Given the description of an element on the screen output the (x, y) to click on. 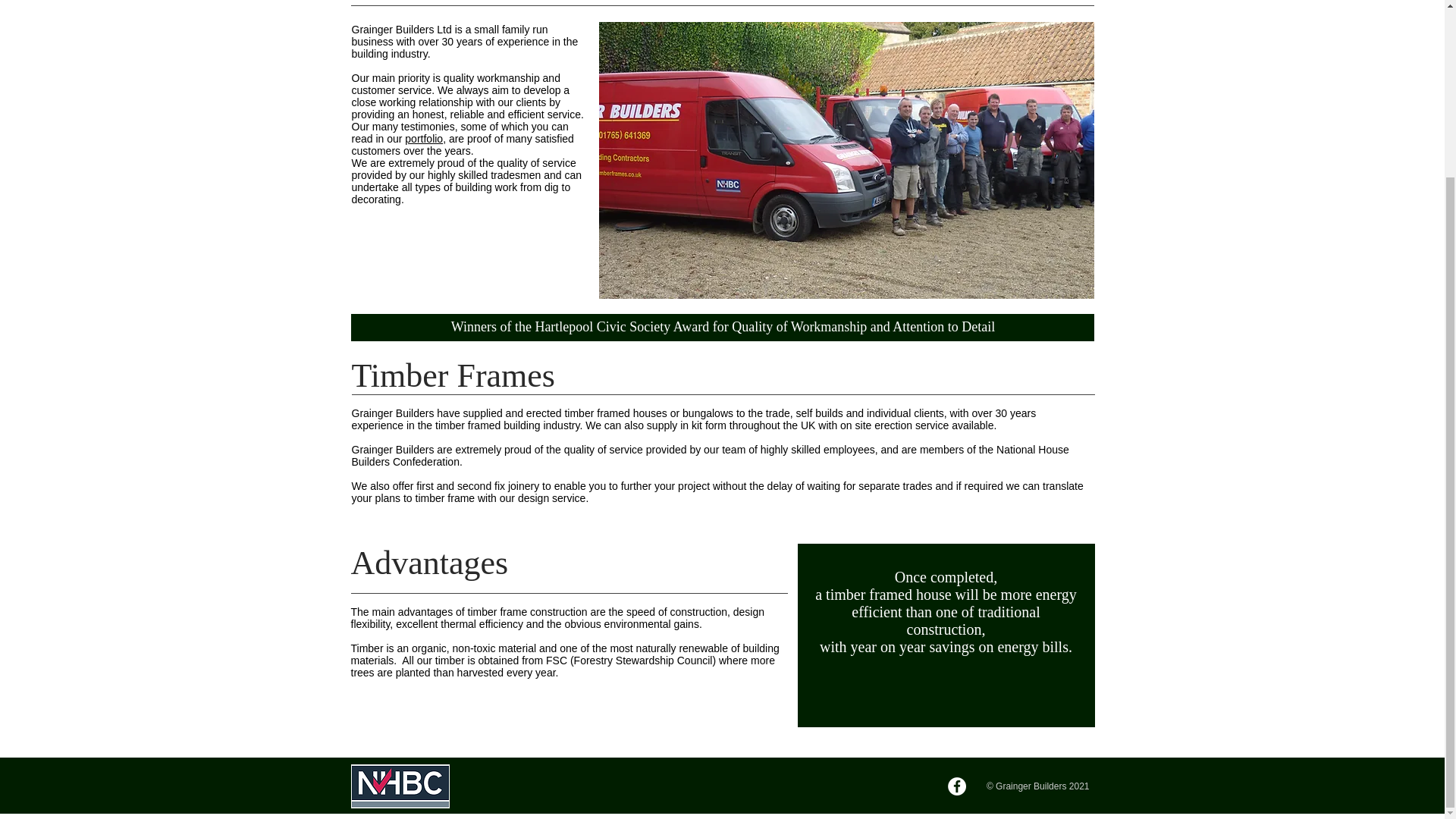
portfolio (423, 138)
